Given the description of an element on the screen output the (x, y) to click on. 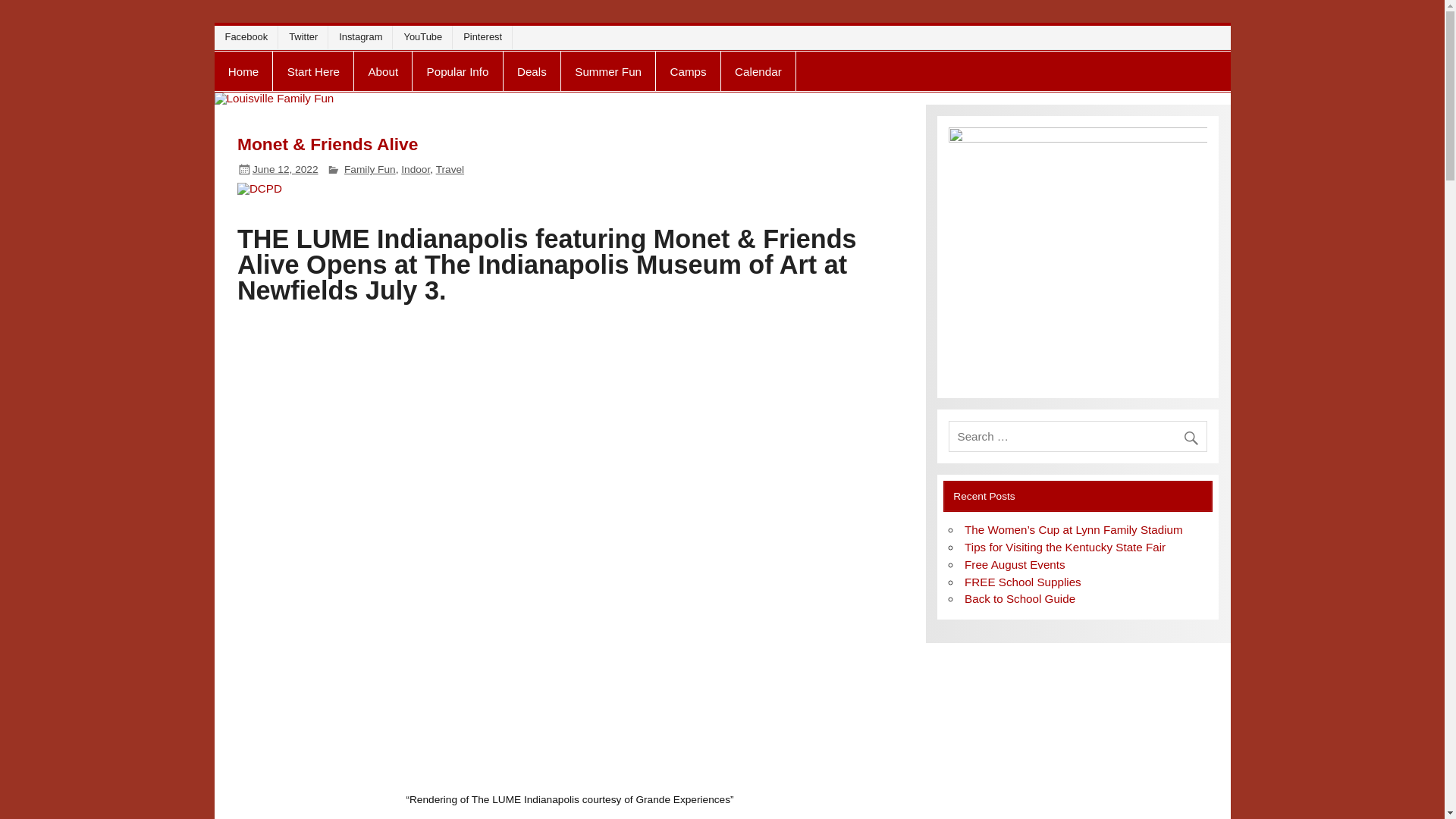
10:31 am (284, 169)
Calendar (757, 70)
Pinterest (485, 37)
Indoor (415, 169)
Family Fun (369, 169)
Louisville Family Fun (360, 64)
Start Here (313, 70)
June 12, 2022 (284, 169)
Instagram (363, 37)
Travel (449, 169)
Deals (531, 70)
Popular Info (457, 70)
Facebook (248, 37)
About (382, 70)
Summer Fun (607, 70)
